Given the description of an element on the screen output the (x, y) to click on. 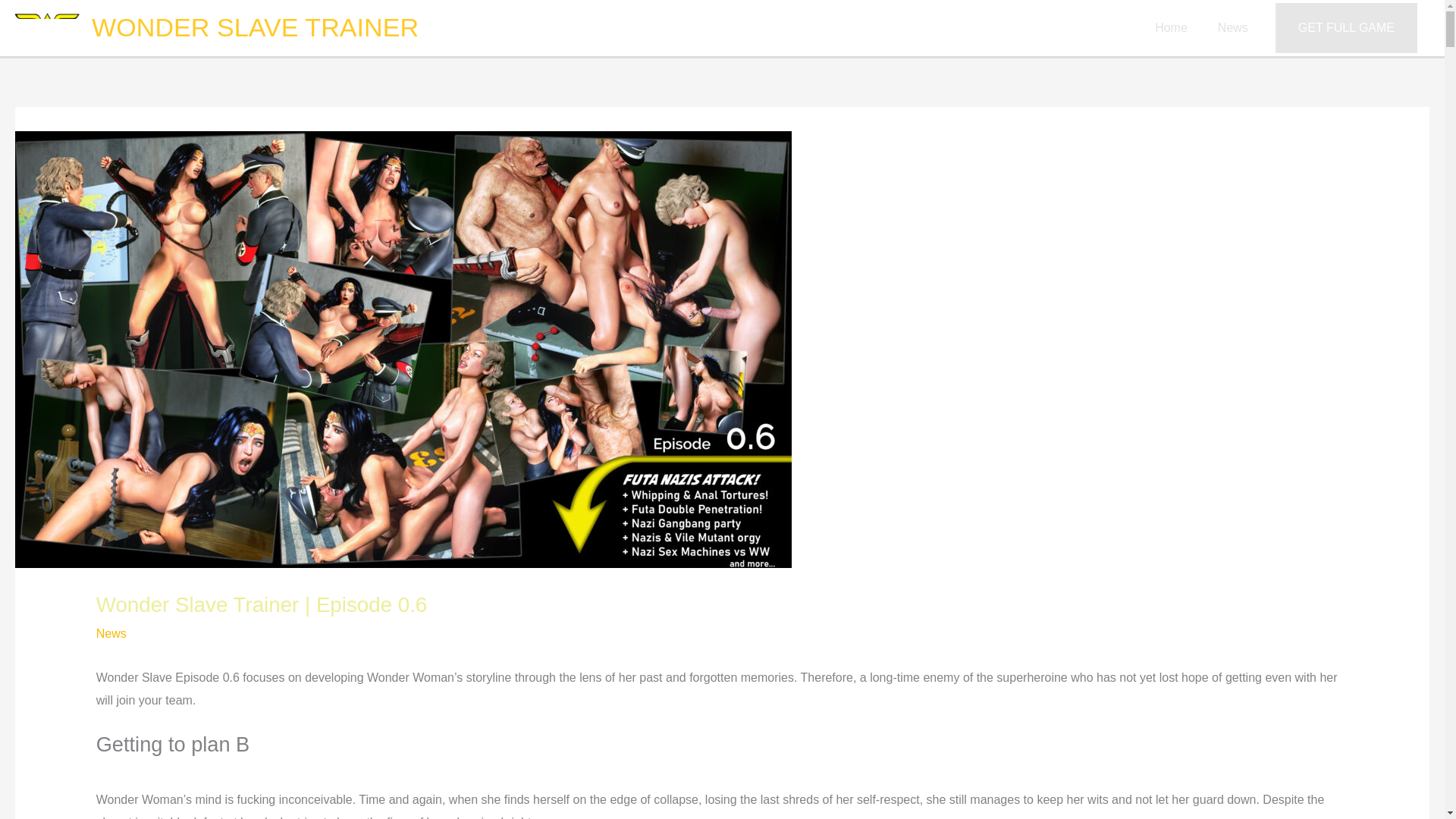
Home (1171, 28)
News (111, 633)
GET FULL GAME (1345, 28)
WONDER SLAVE TRAINER (255, 27)
News (1232, 28)
